Given the description of an element on the screen output the (x, y) to click on. 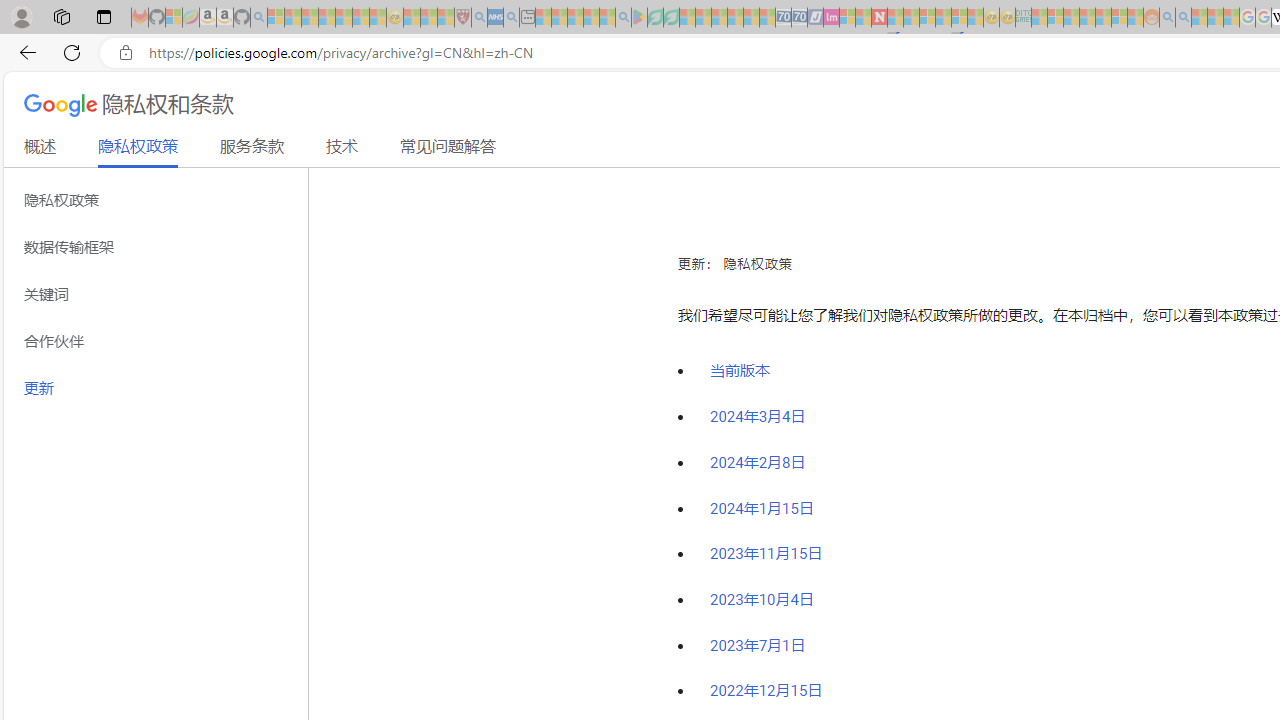
New tab - Sleeping (527, 17)
Microsoft Start - Sleeping (1199, 17)
The Weather Channel - MSN - Sleeping (309, 17)
Microsoft-Report a Concern to Bing - Sleeping (173, 17)
Pets - MSN - Sleeping (591, 17)
